Given the description of an element on the screen output the (x, y) to click on. 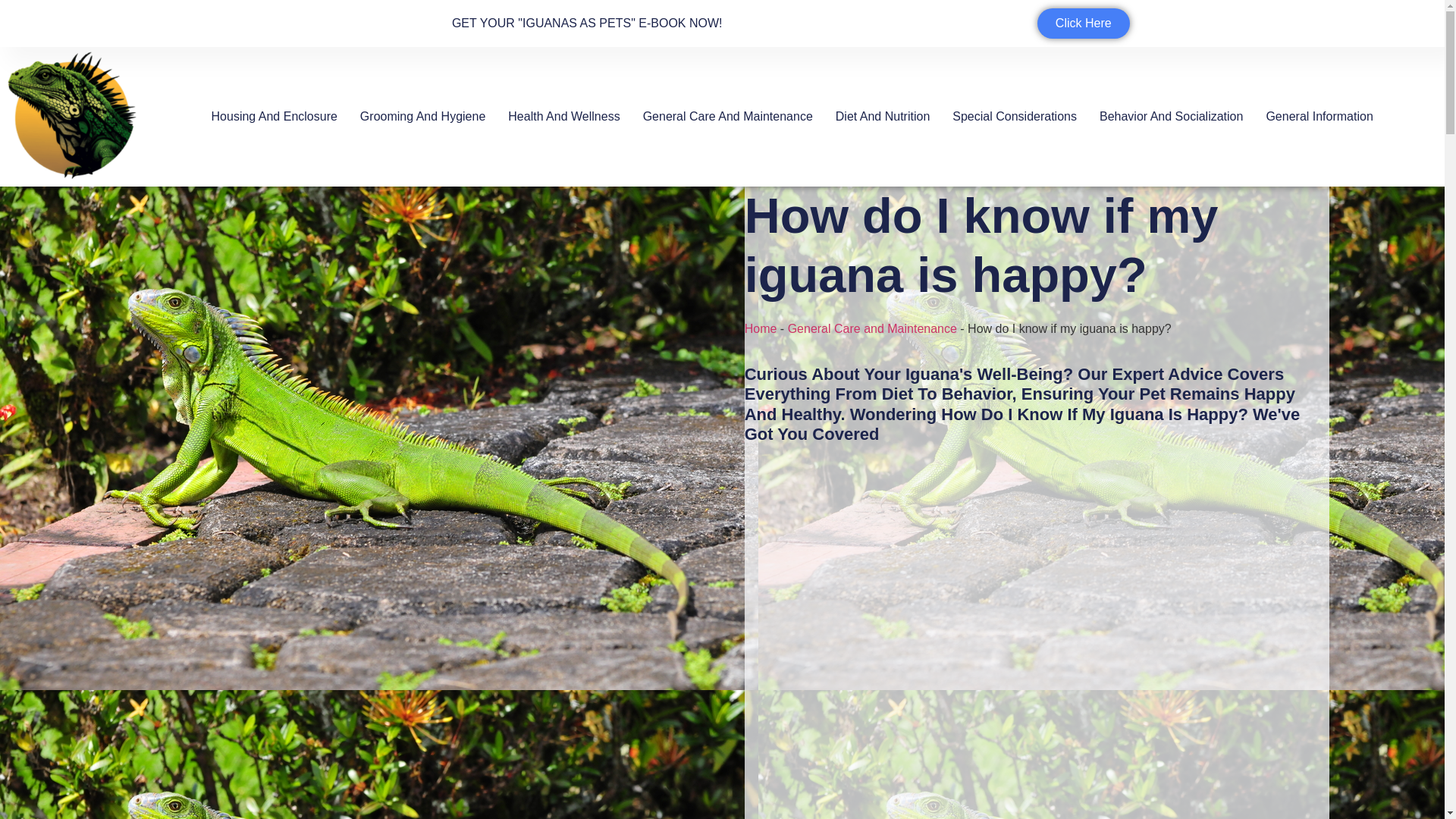
Behavior And Socialization (1171, 116)
Click Here (1082, 23)
Special Considerations (1014, 116)
General Care And Maintenance (727, 116)
Housing And Enclosure (274, 116)
General Care and Maintenance (871, 328)
Grooming And Hygiene (421, 116)
Health And Wellness (564, 116)
General Information (1319, 116)
Diet And Nutrition (882, 116)
Home (760, 328)
